Given the description of an element on the screen output the (x, y) to click on. 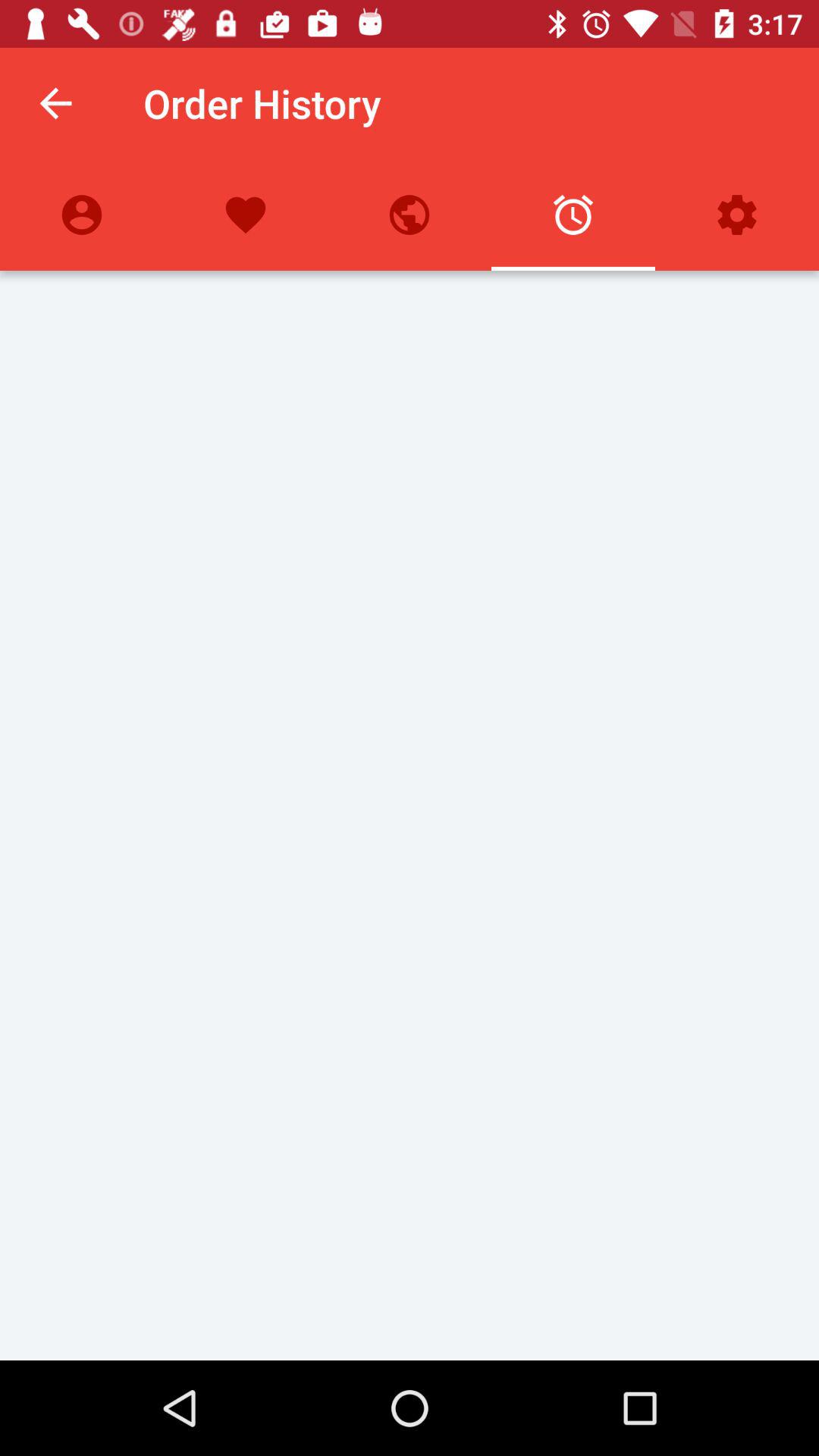
press the icon next to the order history item (55, 103)
